Given the description of an element on the screen output the (x, y) to click on. 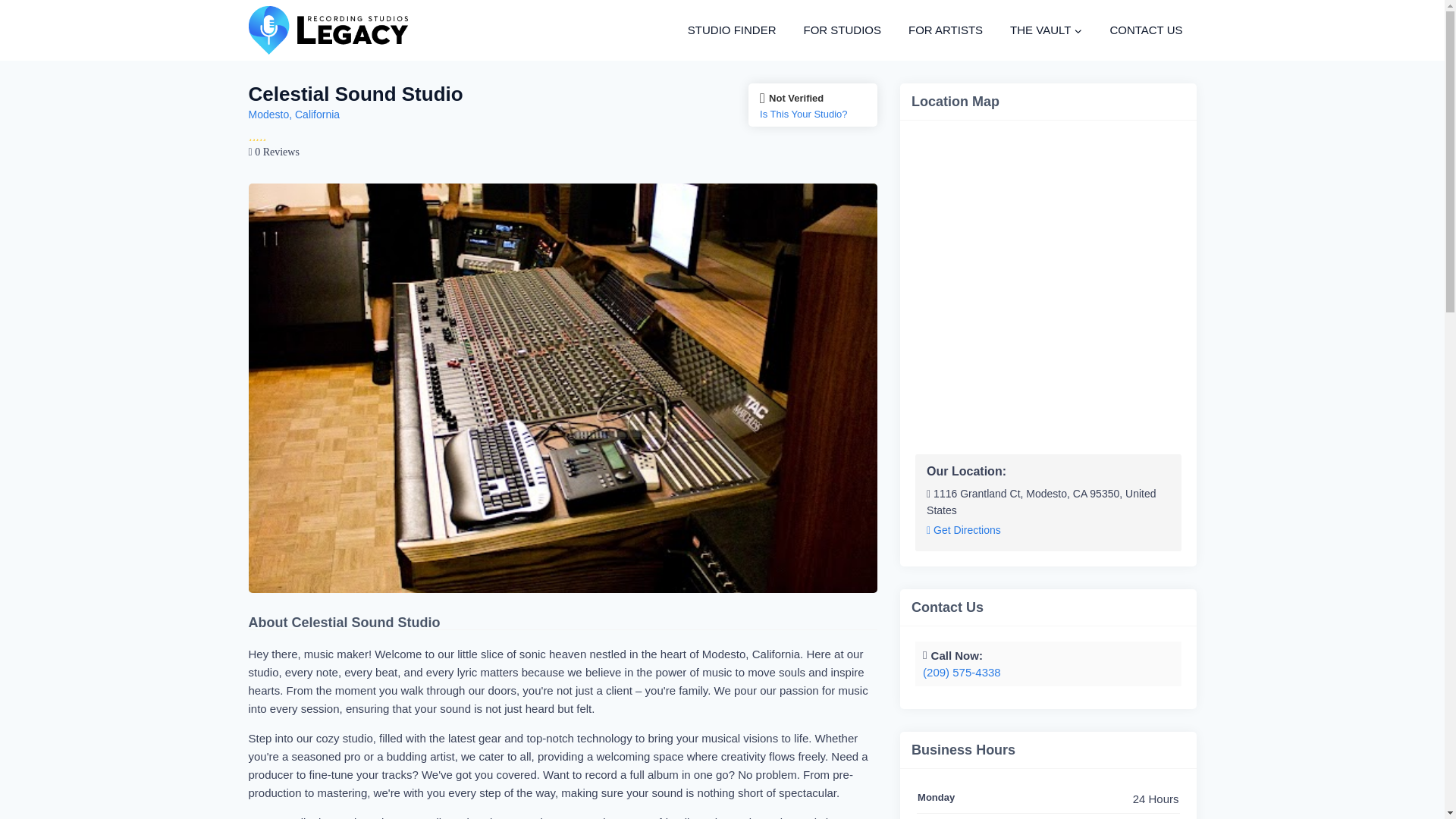
Is This Your Studio? (813, 113)
STUDIO FINDER (732, 29)
FOR STUDIOS (842, 29)
THE VAULT (1045, 29)
Get Directions (963, 530)
FOR ARTISTS (945, 29)
California (317, 114)
CONTACT US (1145, 29)
Modesto (268, 114)
